Given the description of an element on the screen output the (x, y) to click on. 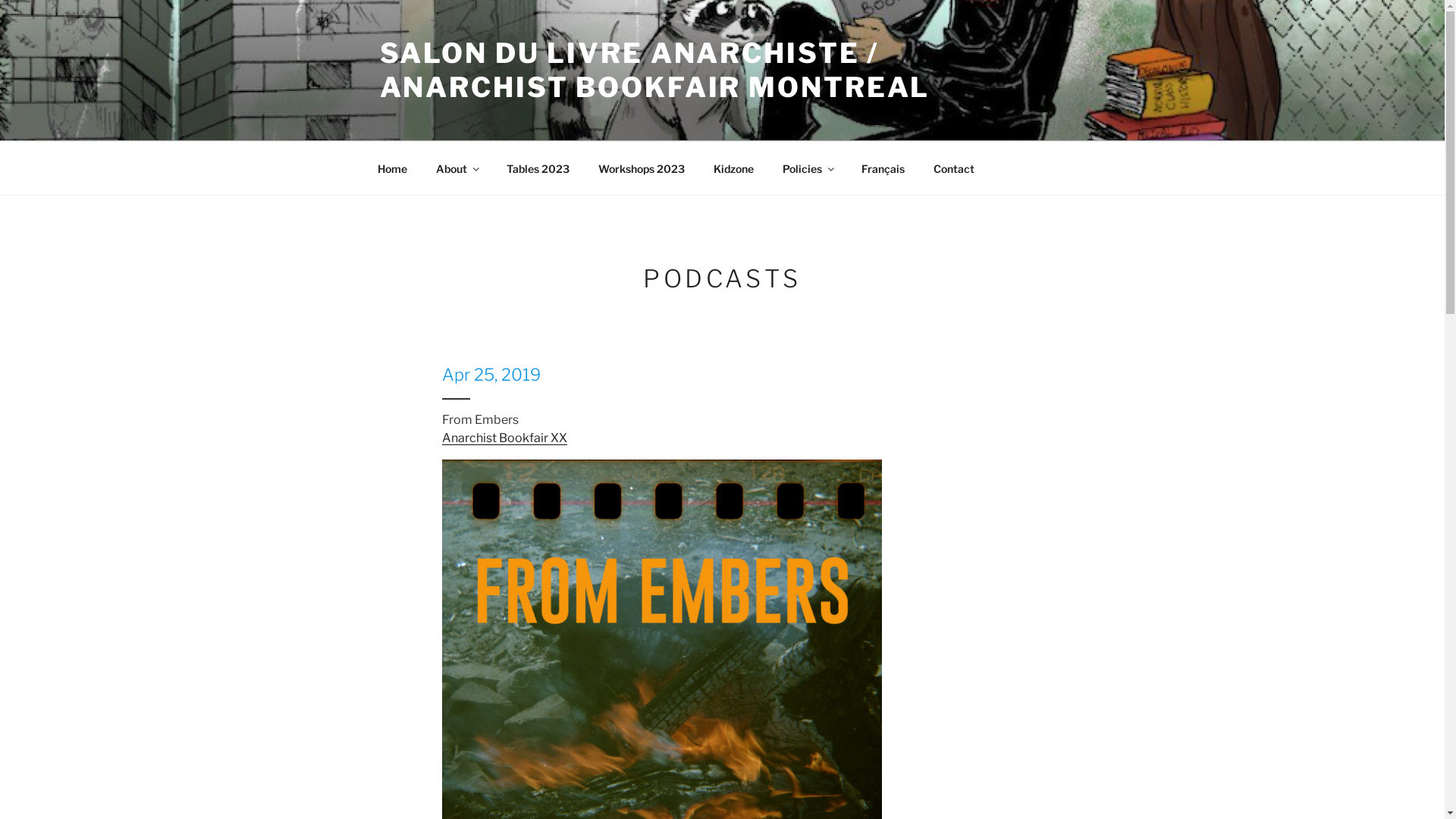
Contact Element type: text (954, 168)
Home Element type: text (392, 168)
Kidzone Element type: text (733, 168)
SALON DU LIVRE ANARCHISTE / ANARCHIST BOOKFAIR MONTREAL Element type: text (654, 69)
About Element type: text (457, 168)
Workshops 2023 Element type: text (641, 168)
Policies Element type: text (806, 168)
Anarchist Bookfair XX Element type: text (503, 437)
Skip to content Element type: text (0, 0)
Tables 2023 Element type: text (537, 168)
